Given the description of an element on the screen output the (x, y) to click on. 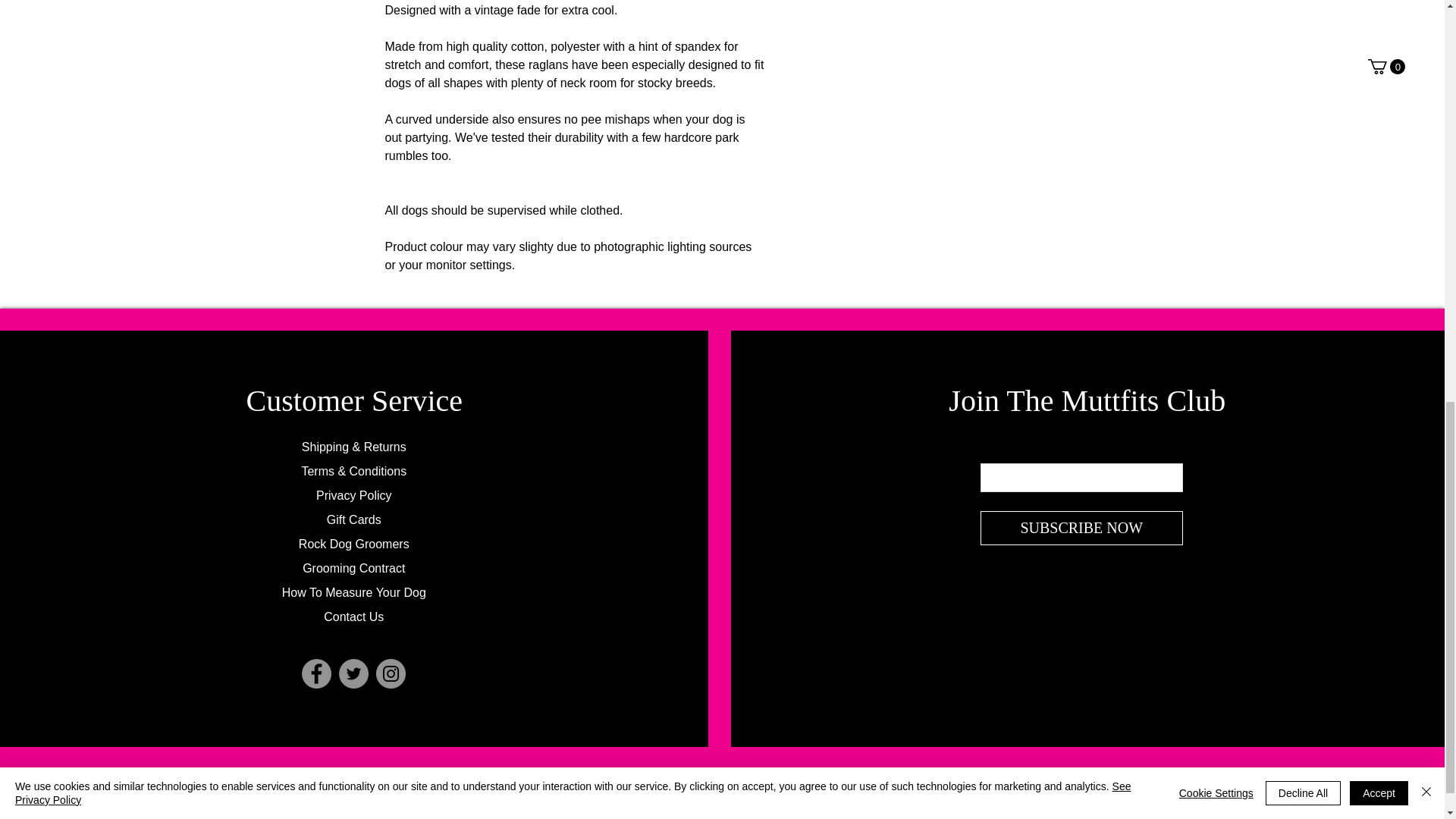
Rock Dog Groomers (353, 543)
Gift Cards (353, 519)
Grooming Contract (353, 567)
Privacy Policy (353, 495)
